Given the description of an element on the screen output the (x, y) to click on. 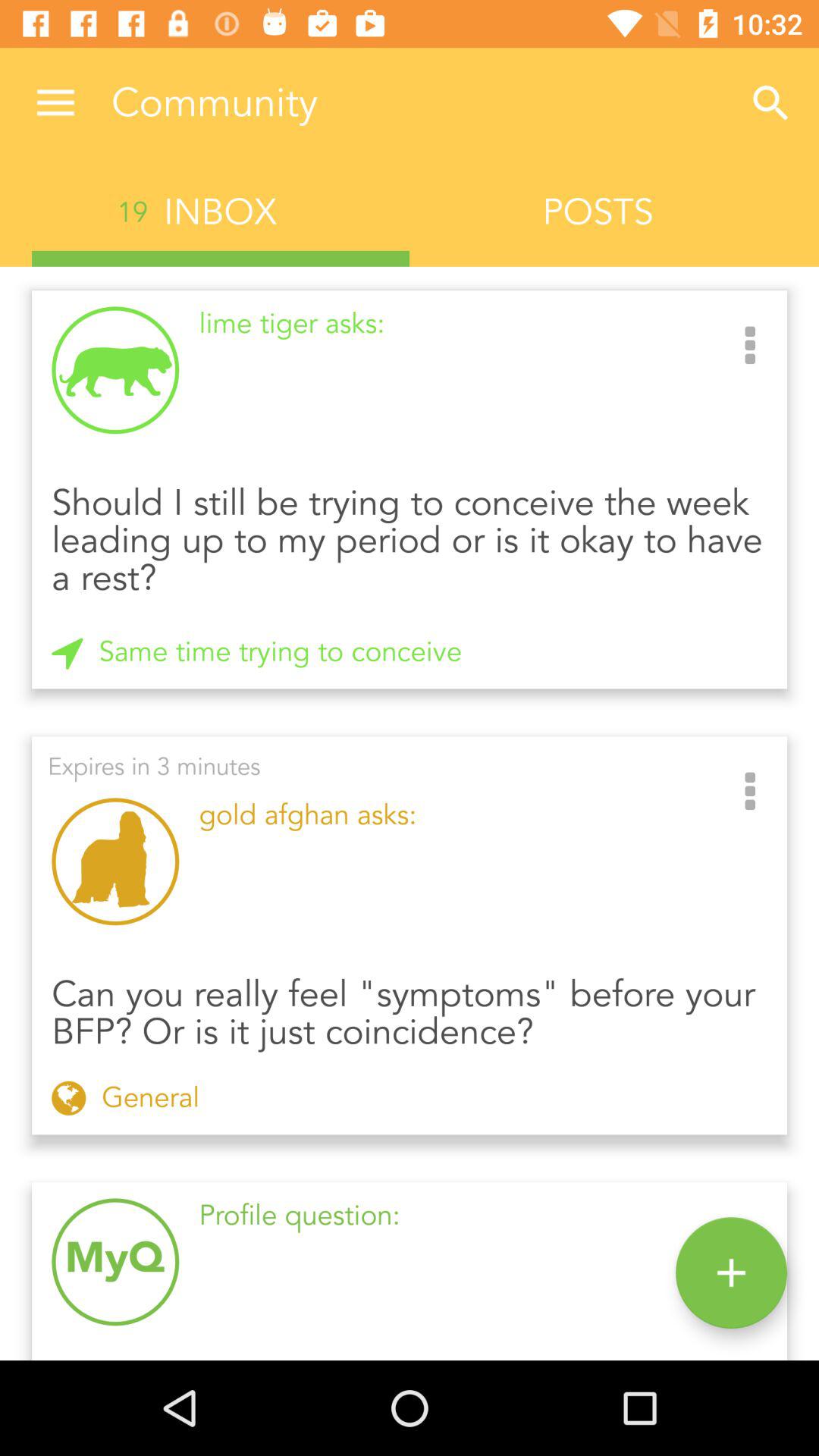
launch the item next to community icon (771, 103)
